Given the description of an element on the screen output the (x, y) to click on. 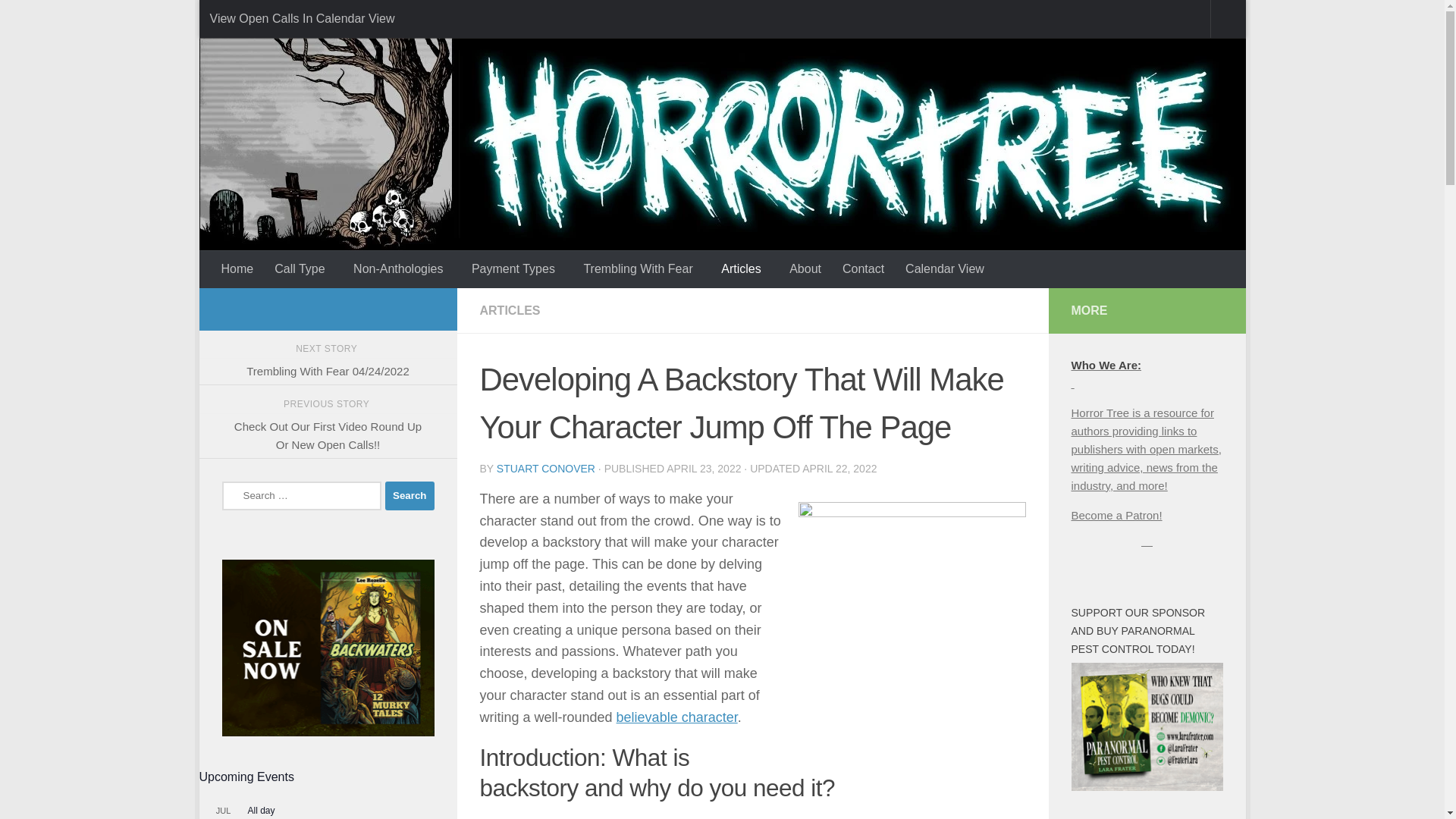
Search (409, 495)
Search (409, 495)
View Open Calls In Calendar View (301, 18)
Posts by Stuart Conover (545, 468)
Skip to content (263, 20)
